Given the description of an element on the screen output the (x, y) to click on. 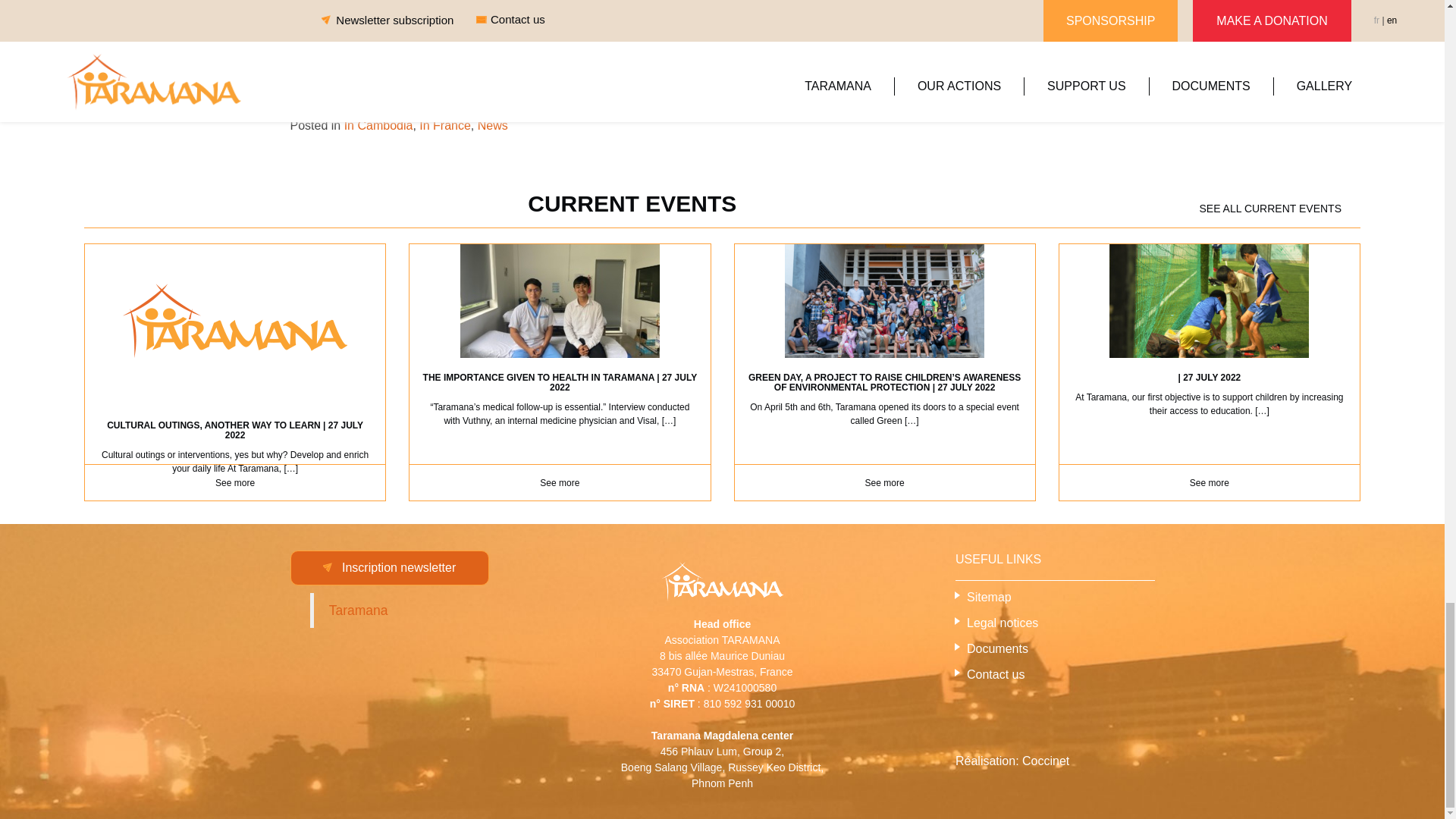
Share this article on X (469, 85)
Share this article on LinkedIn (411, 85)
Share this article on Facebook (331, 85)
